Given the description of an element on the screen output the (x, y) to click on. 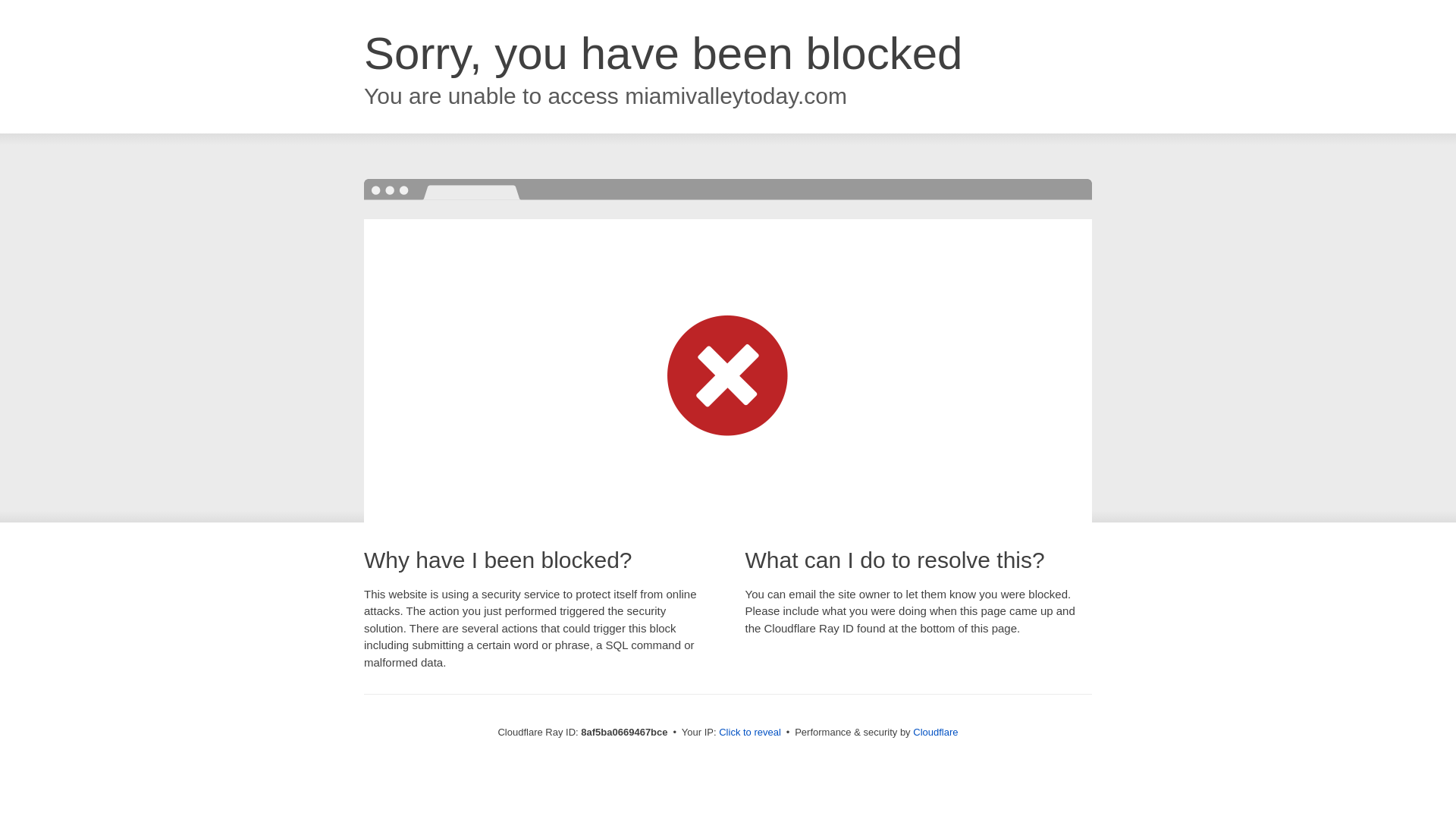
Click to reveal (749, 732)
Cloudflare (935, 731)
